Given the description of an element on the screen output the (x, y) to click on. 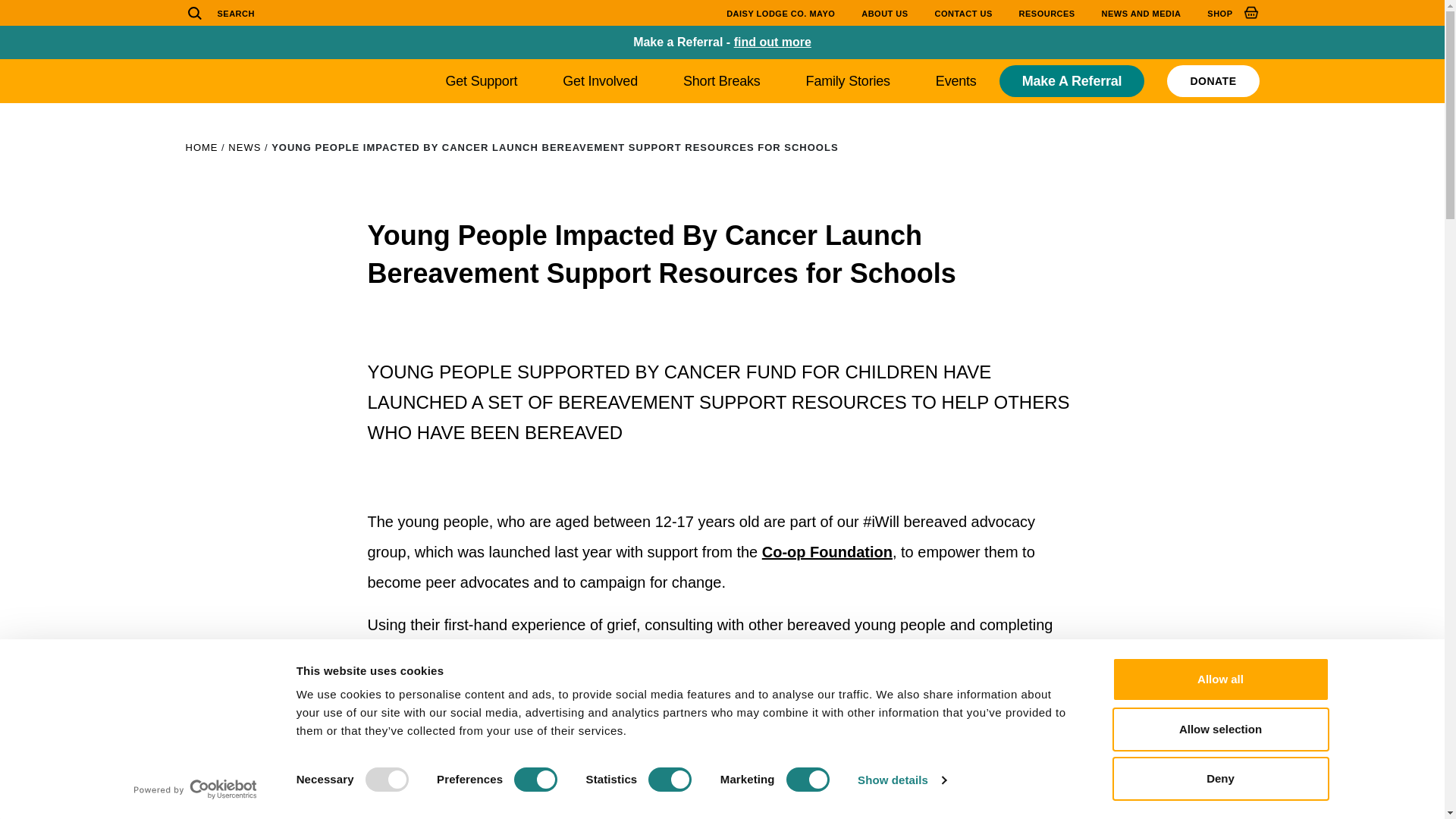
Search (196, 11)
Search (196, 11)
Show details (900, 780)
